Given the description of an element on the screen output the (x, y) to click on. 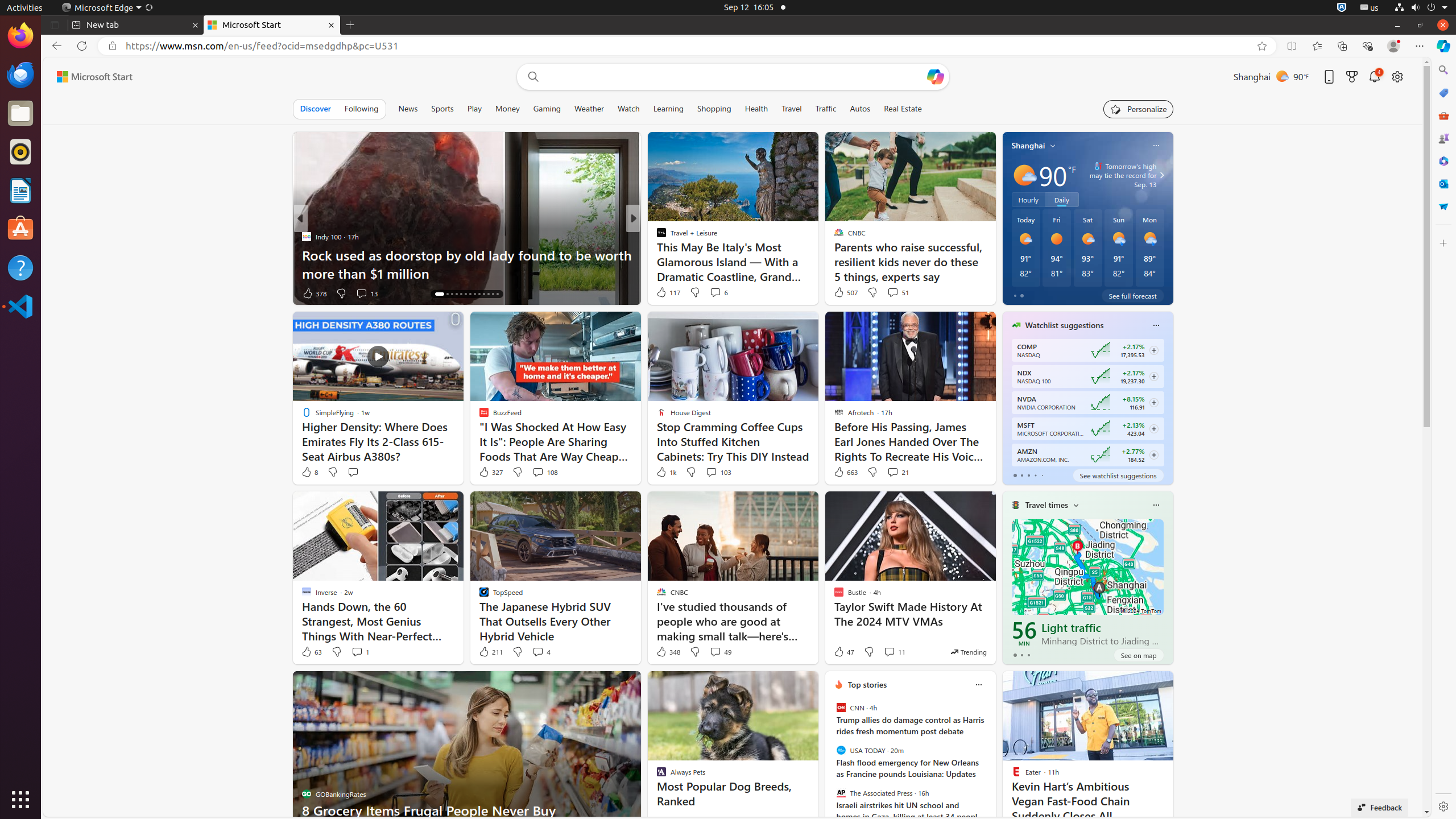
tab-1 Element type: page-tab (1021, 655)
Weather forecast Today High temperature 91° Low temperature 82° Element type: link (1025, 247)
View comments 46 Comment Element type: push-button (711, 293)
Hourly Element type: list-item (1028, 199)
New Tab Element type: push-button (350, 25)
